Given the description of an element on the screen output the (x, y) to click on. 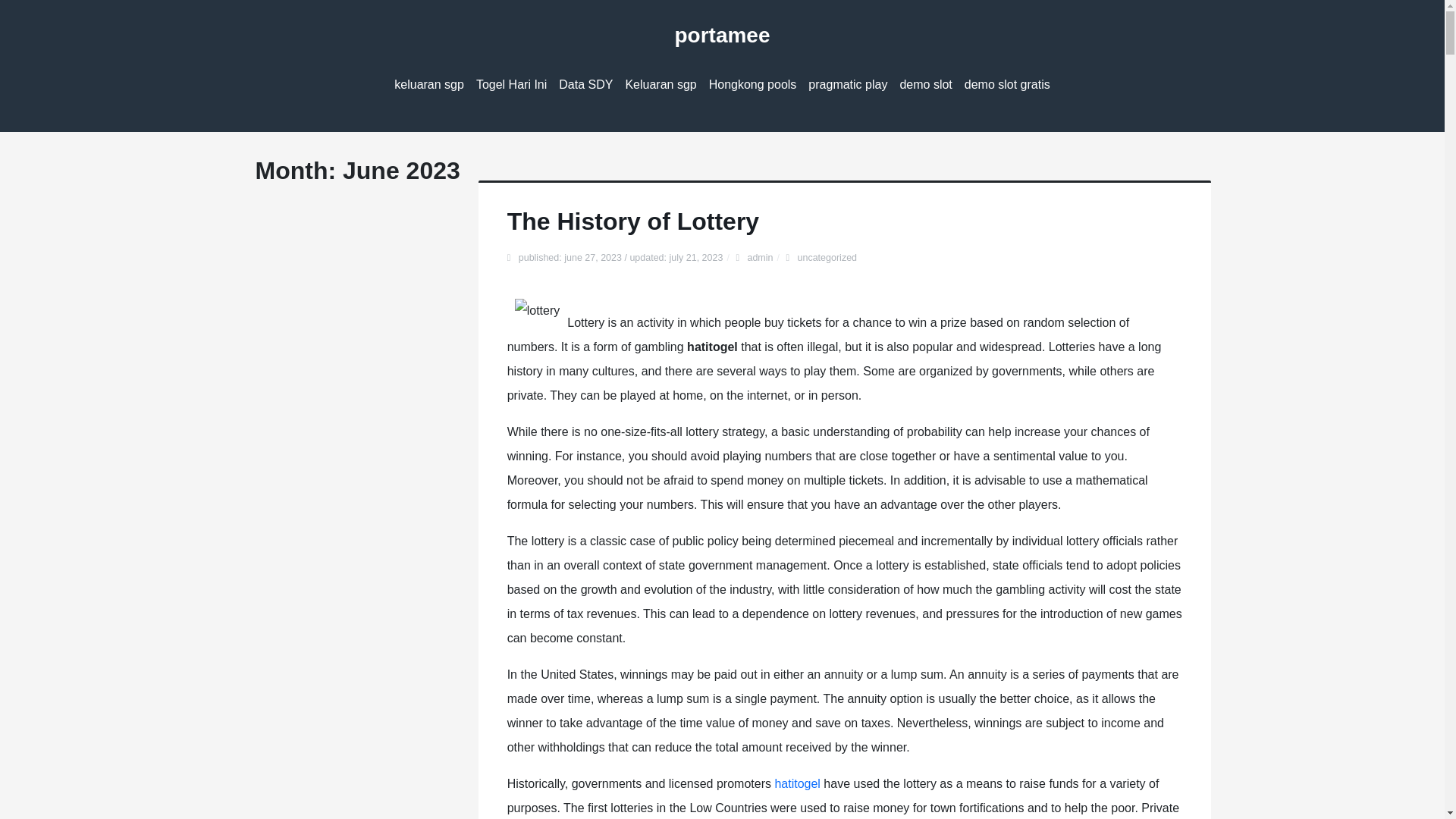
Data SDY (585, 84)
Hongkong pools (753, 84)
keluaran sgp (429, 84)
demo slot gratis (1007, 84)
admin (759, 257)
Hongkong pools (753, 84)
pragmatic play (847, 84)
hatitogel (797, 783)
demo slot (925, 84)
Keluaran sgp (659, 84)
Keluaran sgp (659, 84)
uncategorized (827, 257)
pragmatic play (847, 84)
Data SDY (585, 84)
portamee (722, 34)
